Given the description of an element on the screen output the (x, y) to click on. 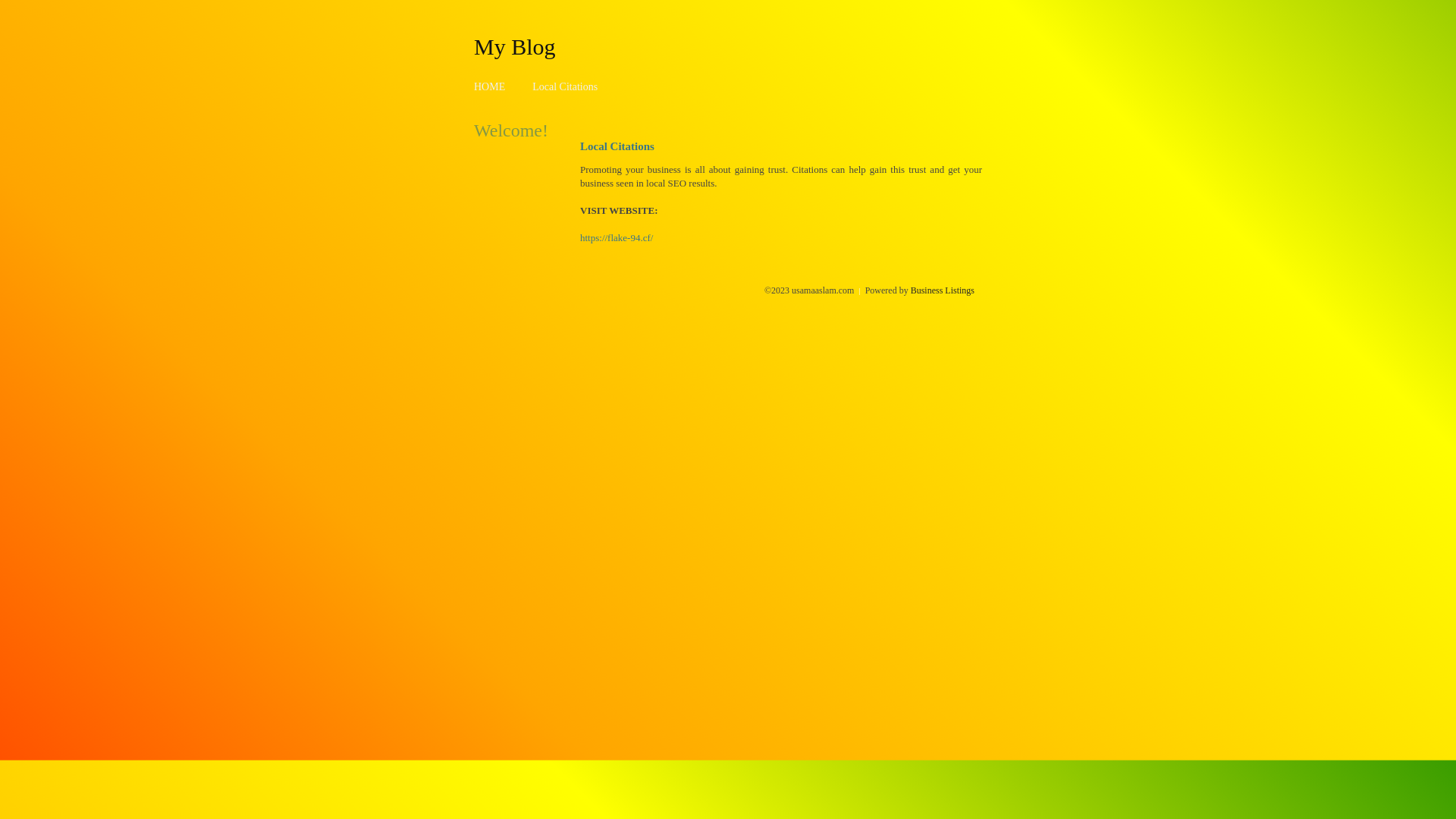
Business Listings Element type: text (942, 290)
My Blog Element type: text (514, 46)
HOME Element type: text (489, 86)
Local Citations Element type: text (564, 86)
https://flake-94.cf/ Element type: text (616, 237)
